Given the description of an element on the screen output the (x, y) to click on. 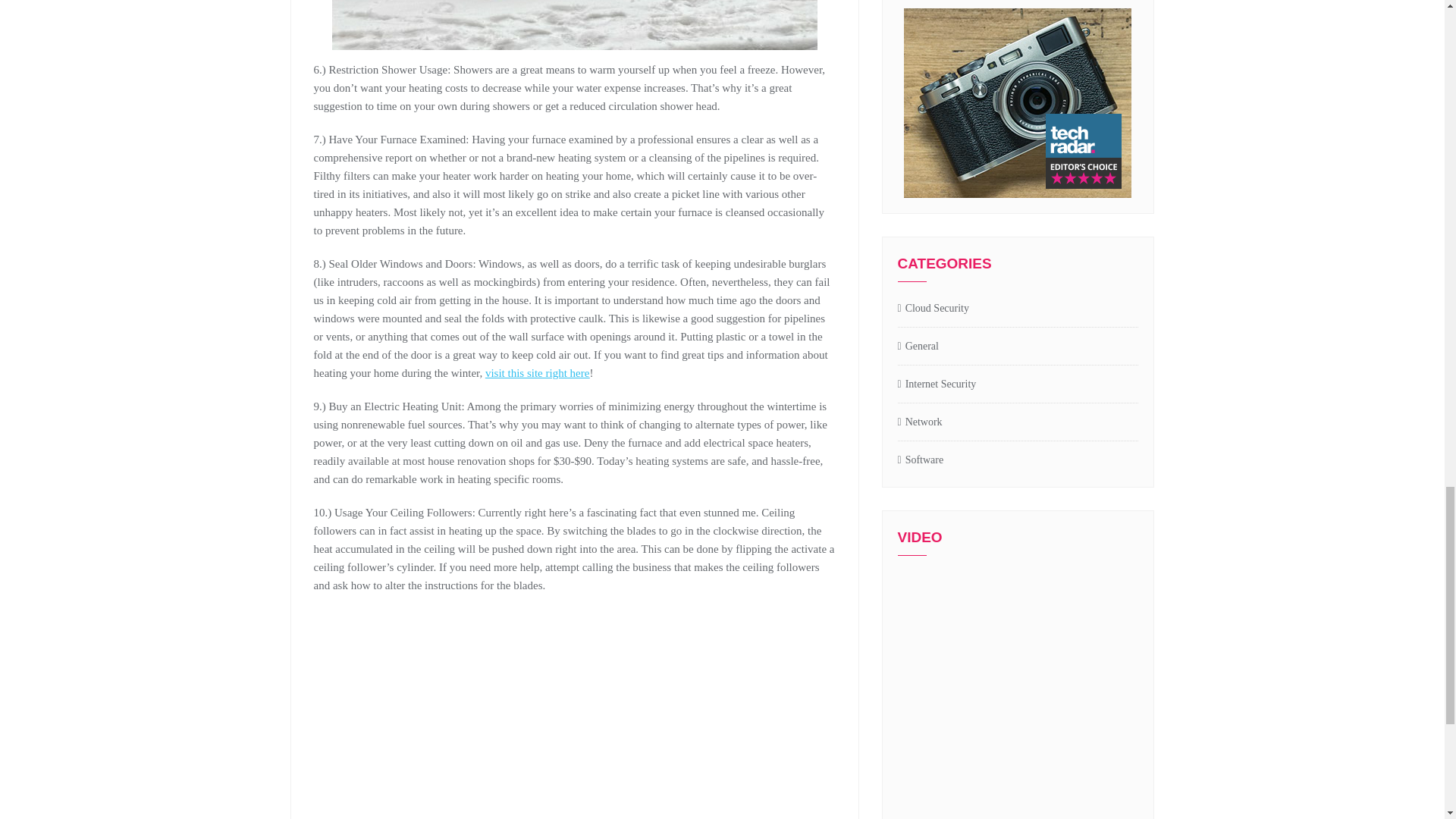
visit this site right here (536, 372)
